Given the description of an element on the screen output the (x, y) to click on. 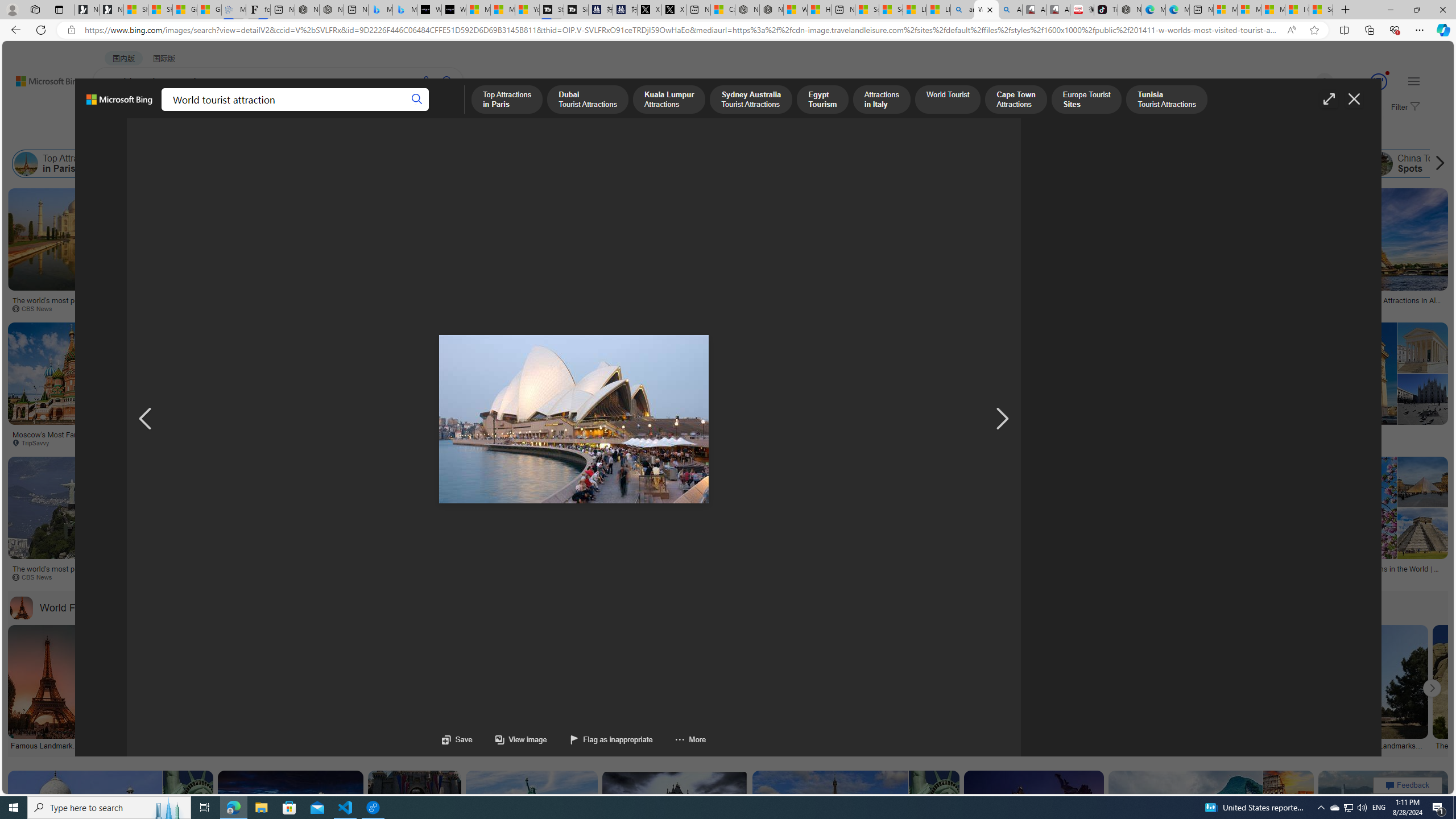
Gilma and Hector both pose tropical trouble for Hawaii (208, 9)
TikTok (1105, 9)
Statue of Liberty Replica (727, 261)
